Given the description of an element on the screen output the (x, y) to click on. 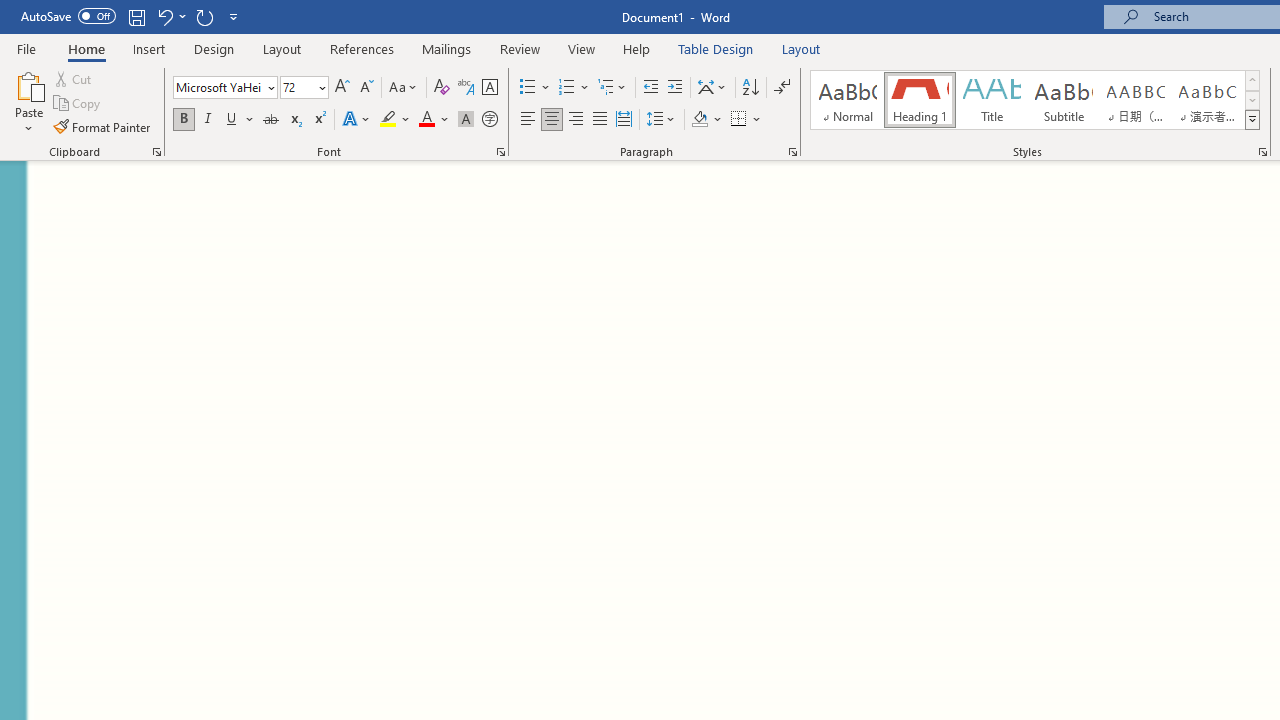
Office Clipboard... (156, 151)
Character Shading (465, 119)
Borders (739, 119)
Help (637, 48)
Repeat Doc Close (204, 15)
Save (136, 15)
Line and Paragraph Spacing (661, 119)
Row Down (1252, 100)
Font (224, 87)
Bullets (527, 87)
Center (552, 119)
Justify (599, 119)
Subscript (294, 119)
Superscript (319, 119)
Clear Formatting (442, 87)
